Given the description of an element on the screen output the (x, y) to click on. 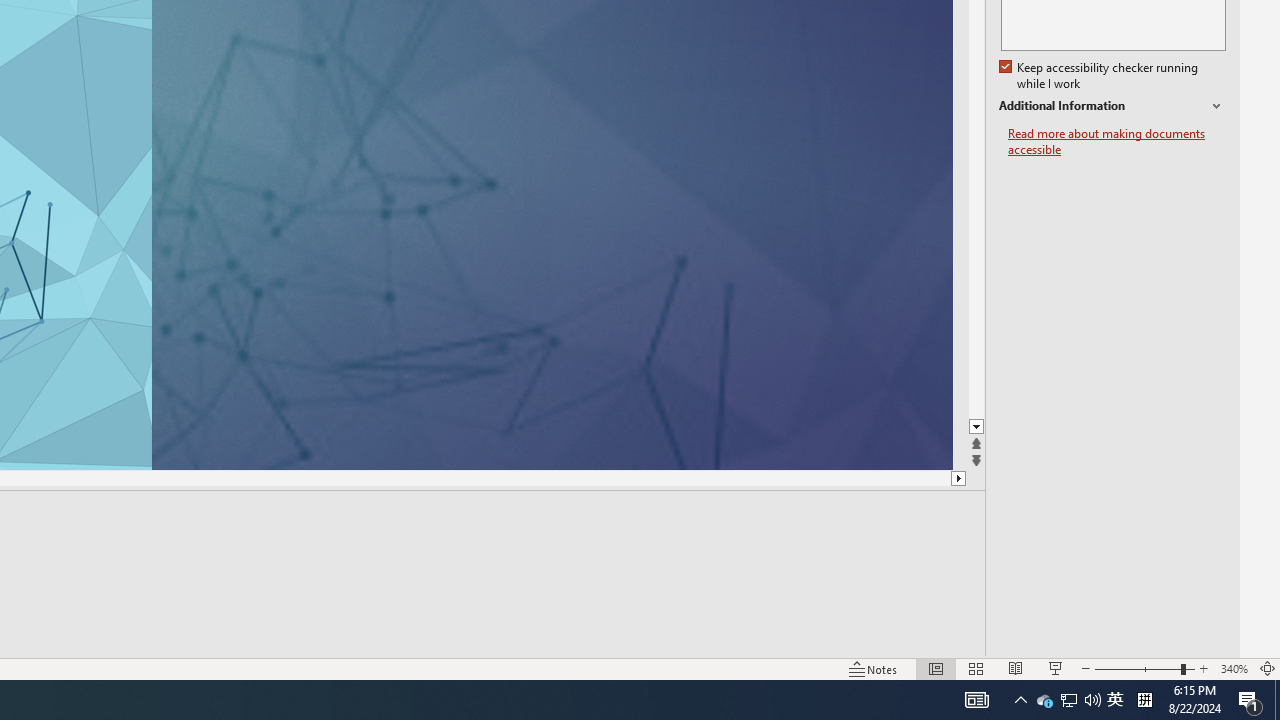
Zoom 340% (1234, 668)
